Given the description of an element on the screen output the (x, y) to click on. 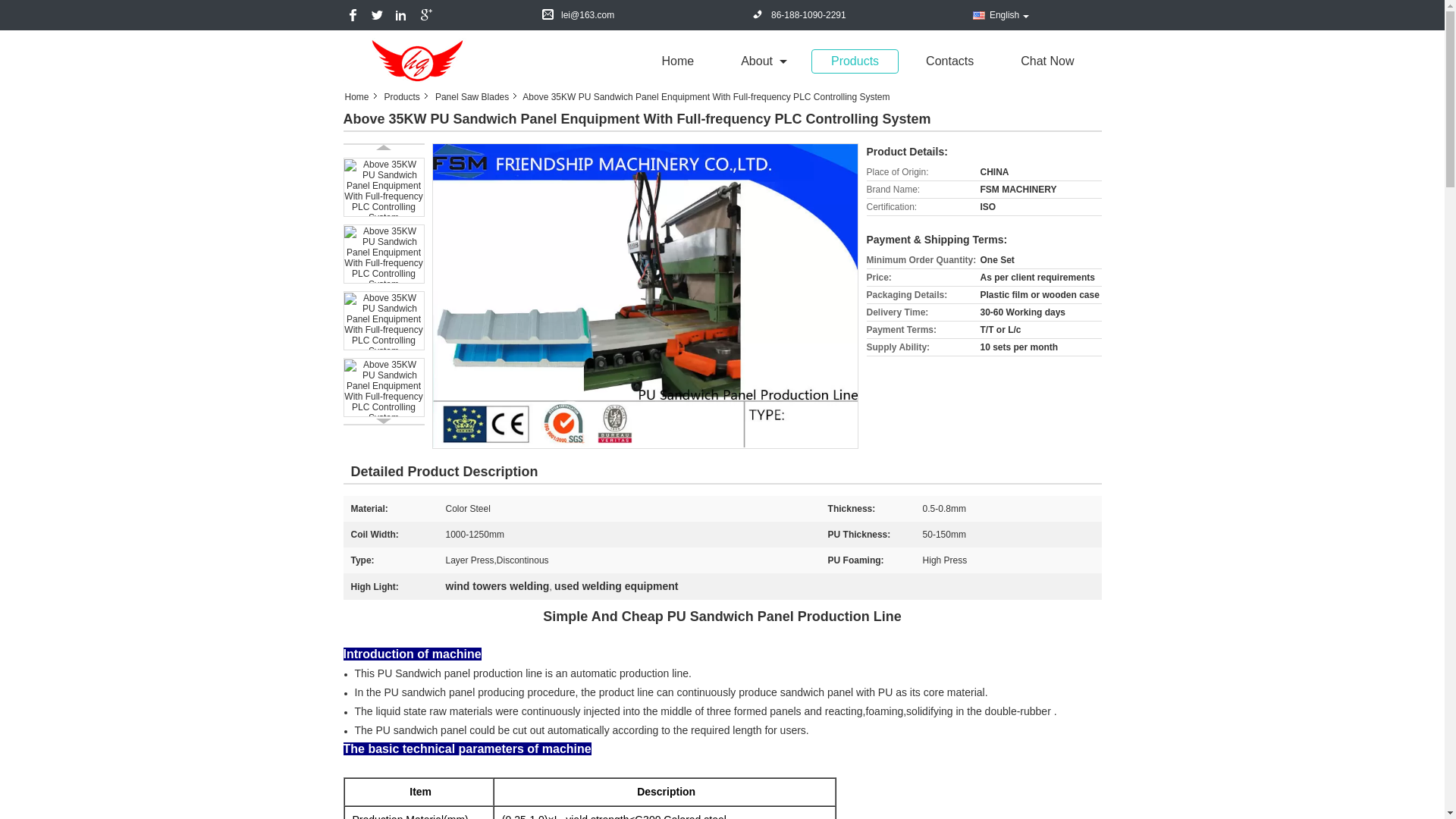
Home (677, 61)
About (761, 61)
Products (403, 97)
Contacts (948, 61)
Products (854, 61)
Home (360, 97)
Panel Saw Blades (473, 97)
